Given the description of an element on the screen output the (x, y) to click on. 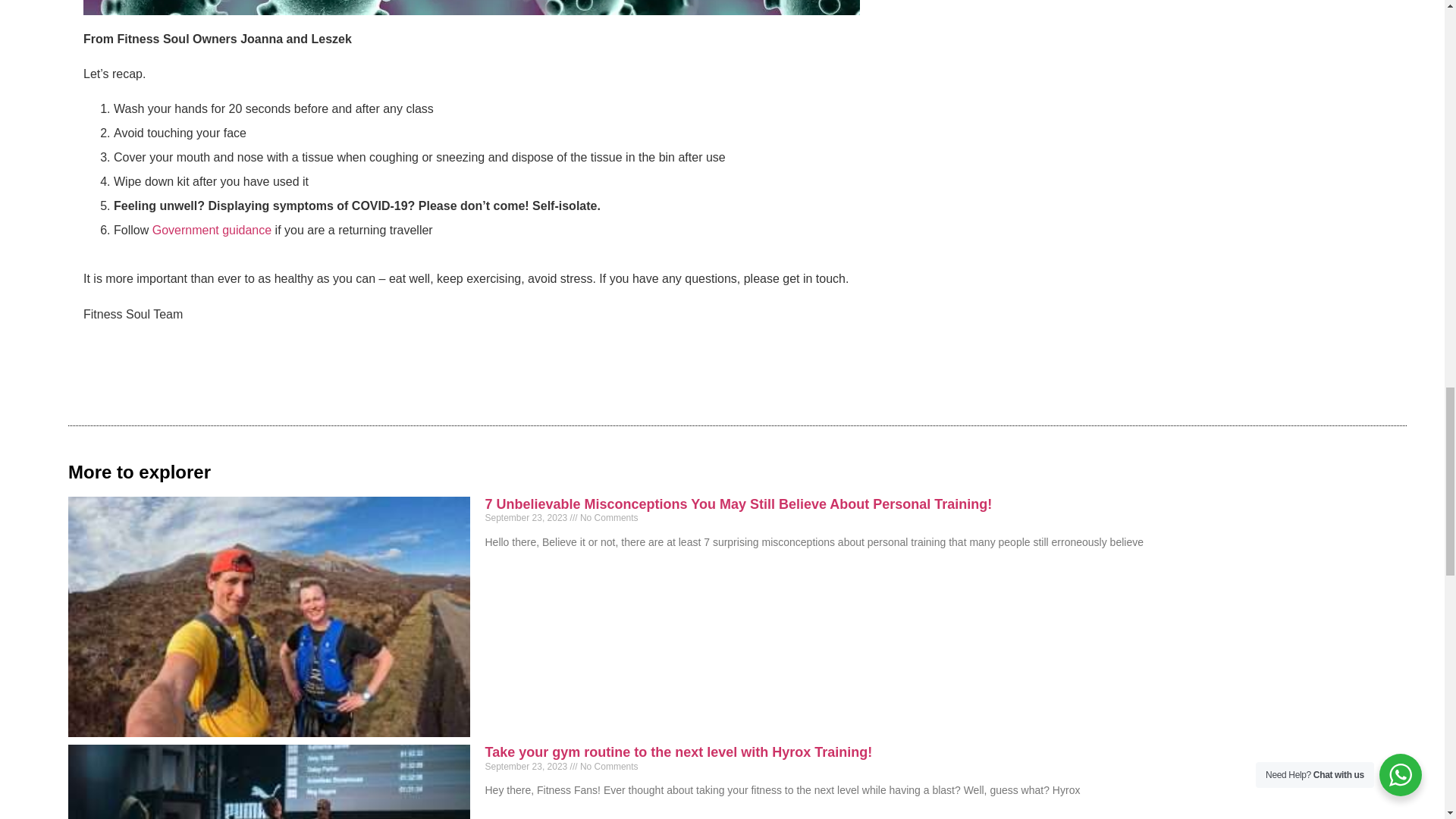
Government guidance (211, 229)
